Given the description of an element on the screen output the (x, y) to click on. 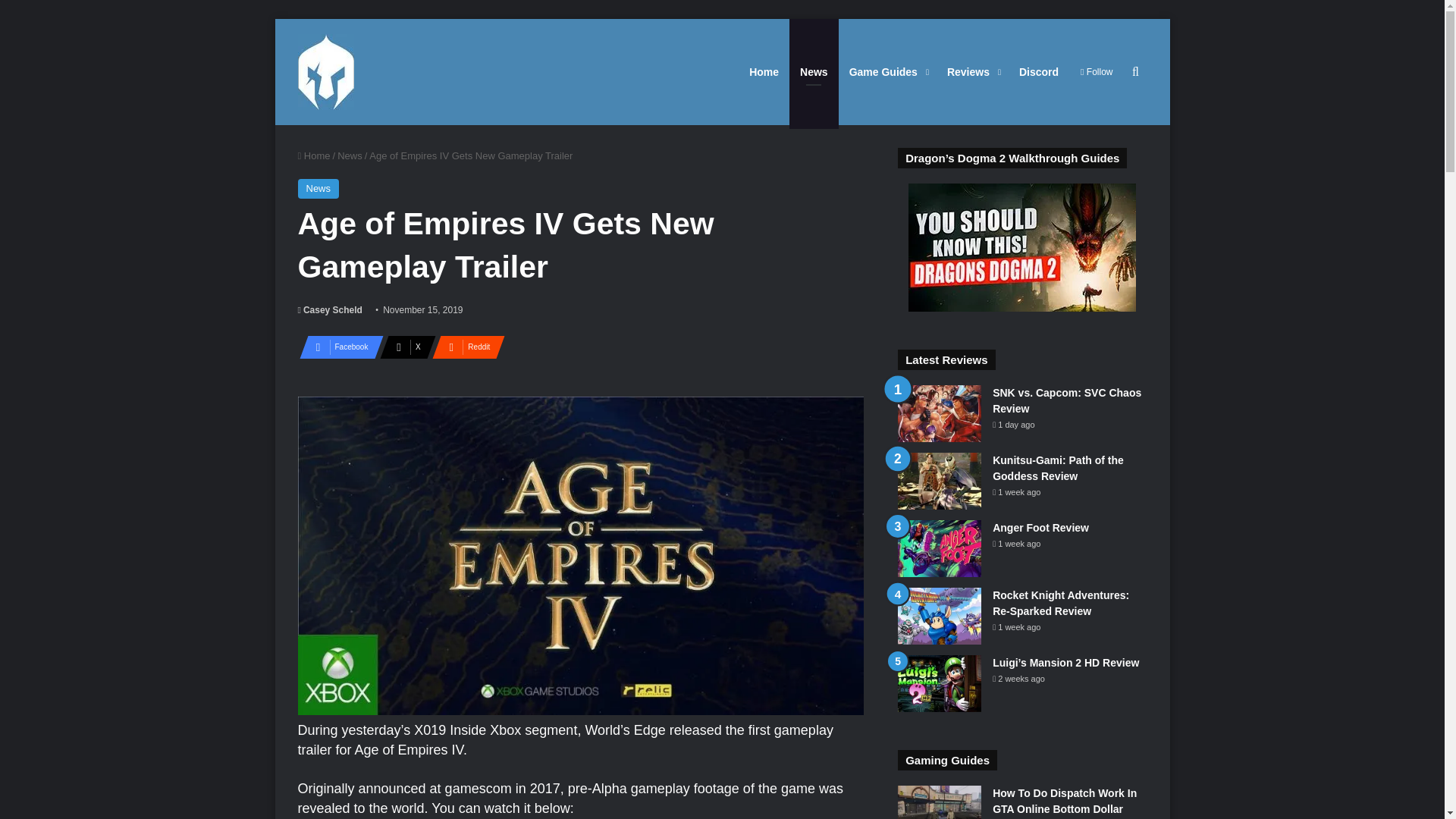
Home (313, 155)
Game Guides (887, 71)
News (349, 155)
News (318, 189)
Game Guides (887, 71)
X (403, 346)
Facebook (336, 346)
Casey Scheld (329, 309)
Casey Scheld (329, 309)
Reddit (464, 346)
